Given the description of an element on the screen output the (x, y) to click on. 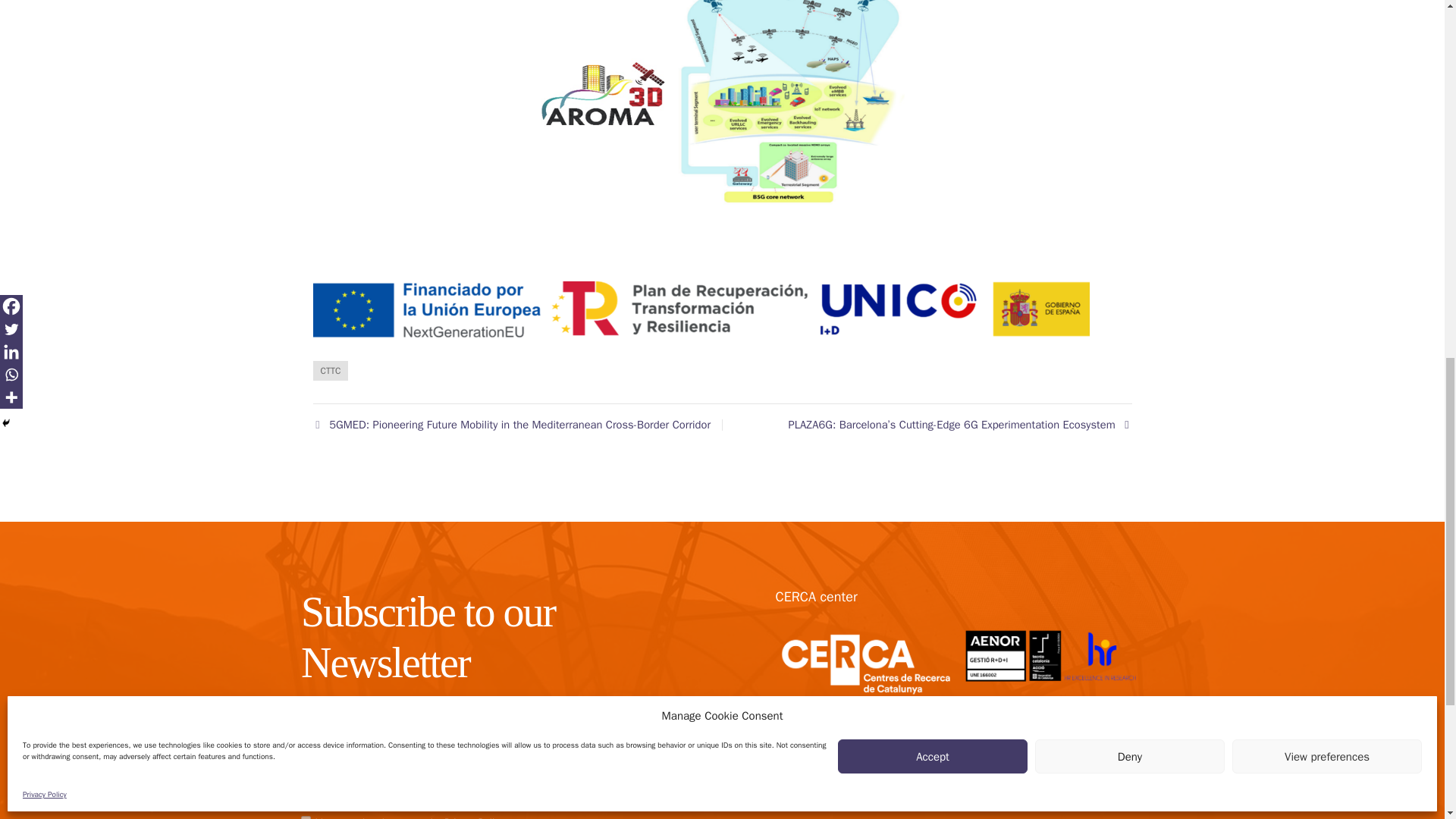
SIGN ME UP (589, 782)
Scroll back to top (1406, 720)
1 (306, 817)
